Given the description of an element on the screen output the (x, y) to click on. 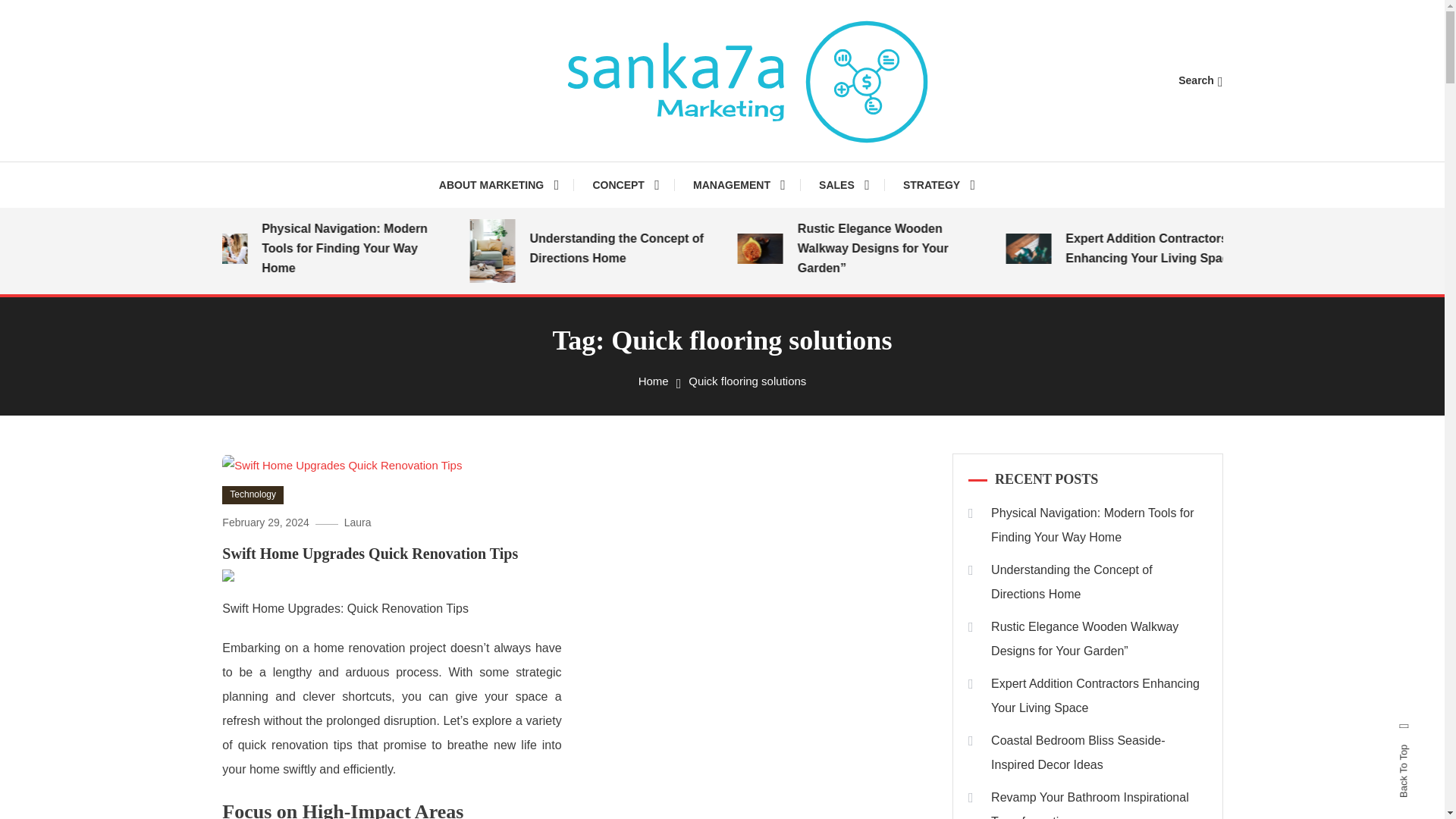
Search (768, 434)
Skip To Content (40, 10)
Physical Navigation: Modern Tools for Finding Your Way Home (376, 248)
ABOUT MARKETING (506, 185)
Sanka7a (499, 177)
Search (1200, 80)
SALES (844, 185)
Understanding the Concept of Directions Home (644, 248)
MANAGEMENT (739, 185)
CONCEPT (625, 185)
STRATEGY (939, 185)
